Given the description of an element on the screen output the (x, y) to click on. 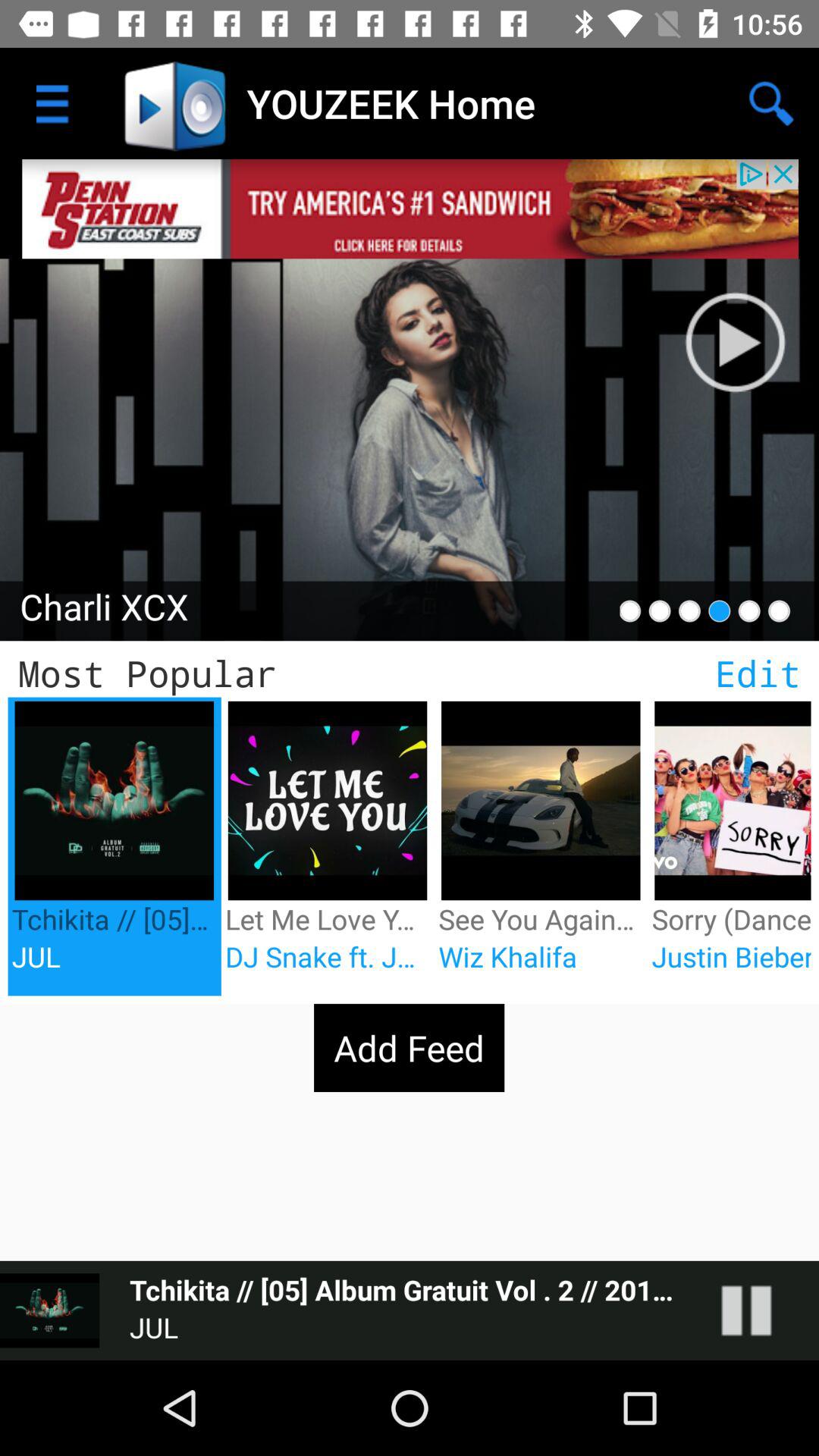
select the play icon (735, 342)
click on the search icon (771, 103)
the blue colored text edit (757, 673)
